Given the description of an element on the screen output the (x, y) to click on. 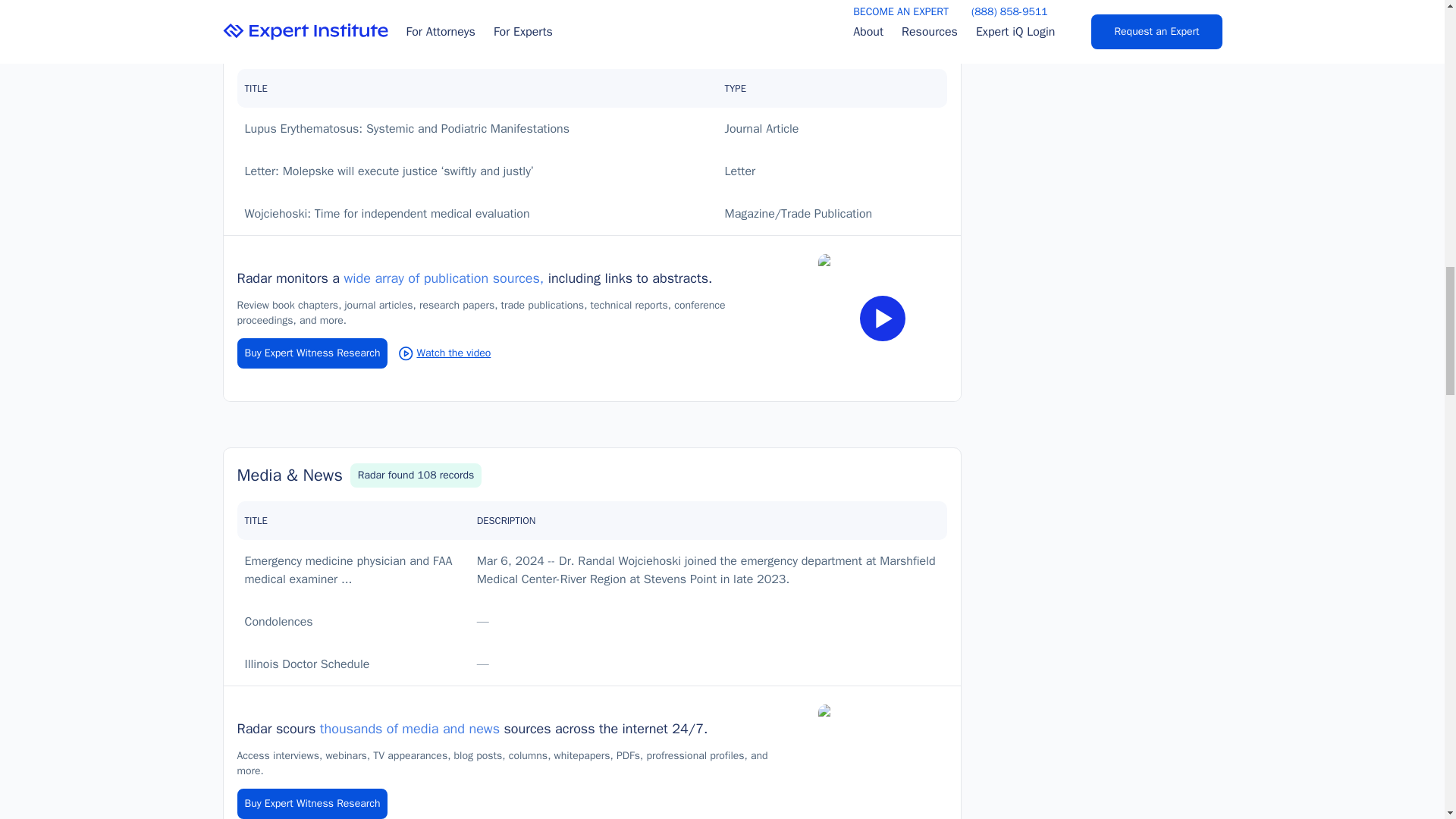
Watch the video (443, 352)
Buy Expert Witness Research (311, 803)
Buy Expert Witness Research (311, 353)
